Given the description of an element on the screen output the (x, y) to click on. 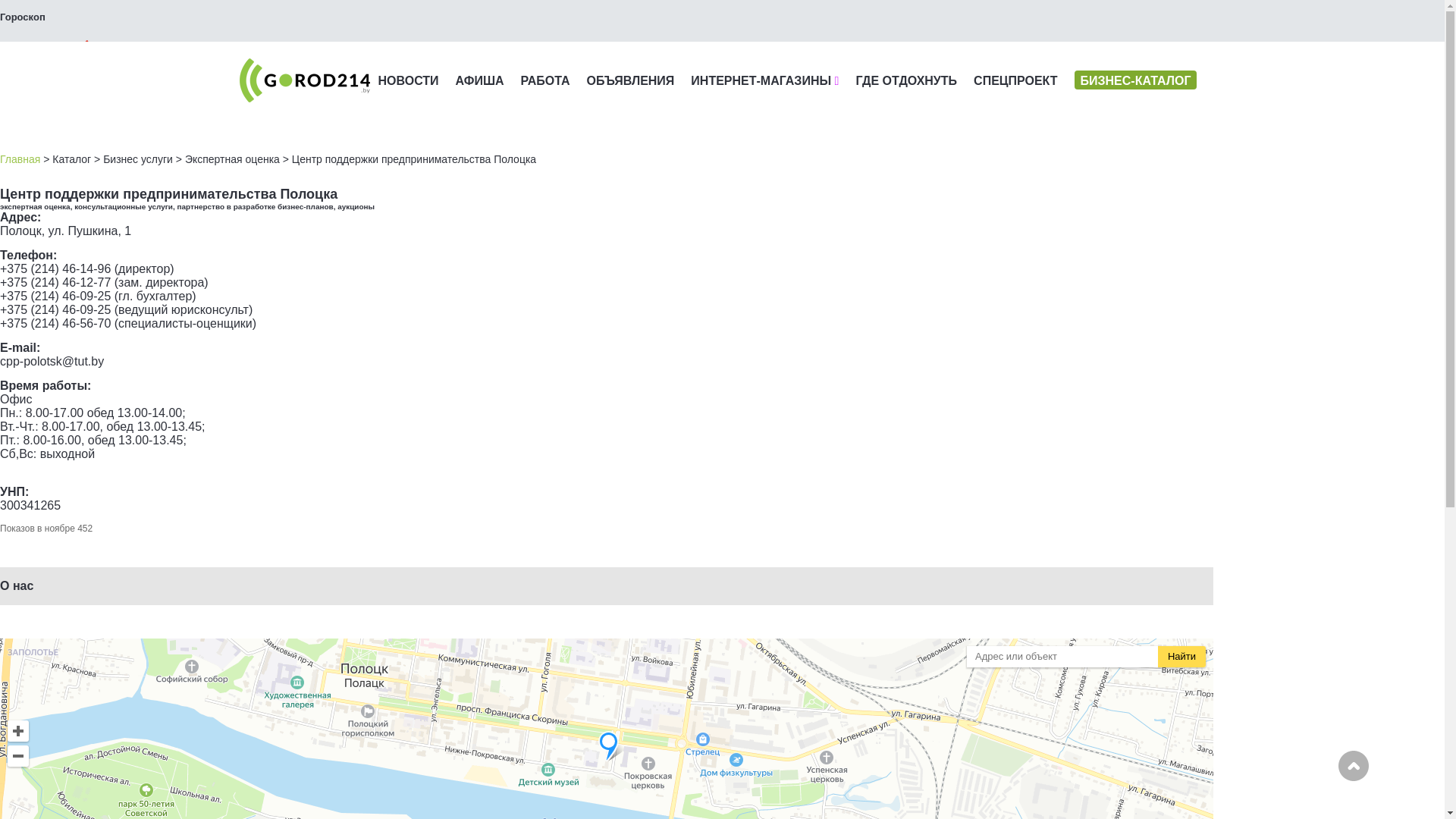
+375 (214) 46-14-96 Element type: text (55, 268)
+375 (214) 46-12-77 Element type: text (55, 282)
+375 (214) 46-56-70 Element type: text (55, 322)
+375 (214) 46-09-25 Element type: text (55, 295)
   Element type: text (49, 50)
cpp-polotsk@tut.by Element type: text (51, 360)
+375 (214) 46-09-25 Element type: text (55, 309)
